Given the description of an element on the screen output the (x, y) to click on. 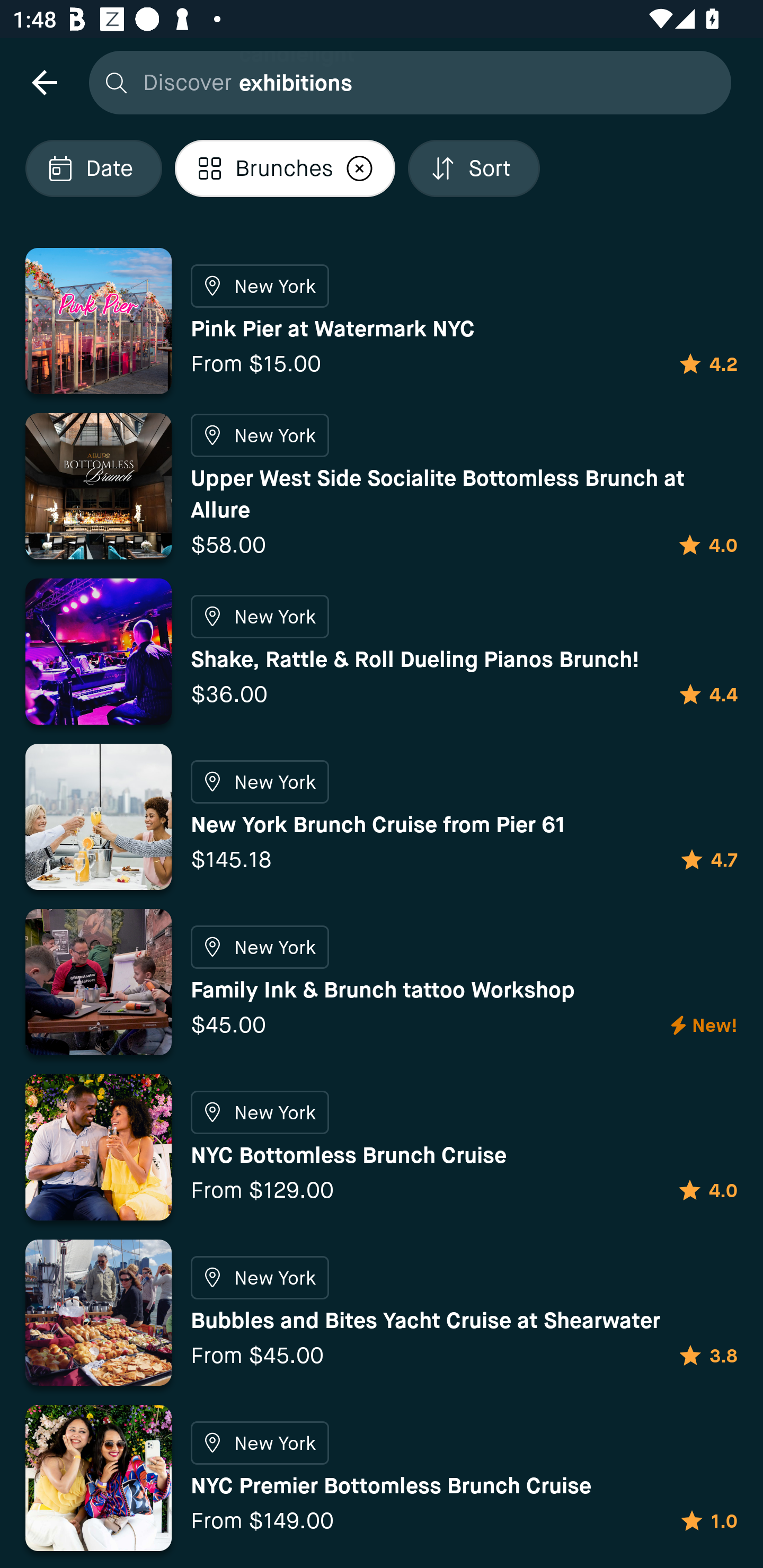
navigation icon (44, 81)
Discover candlelight exhibitions (405, 81)
Localized description Date (93, 168)
Localized description (359, 168)
Localized description Sort (474, 168)
